Given the description of an element on the screen output the (x, y) to click on. 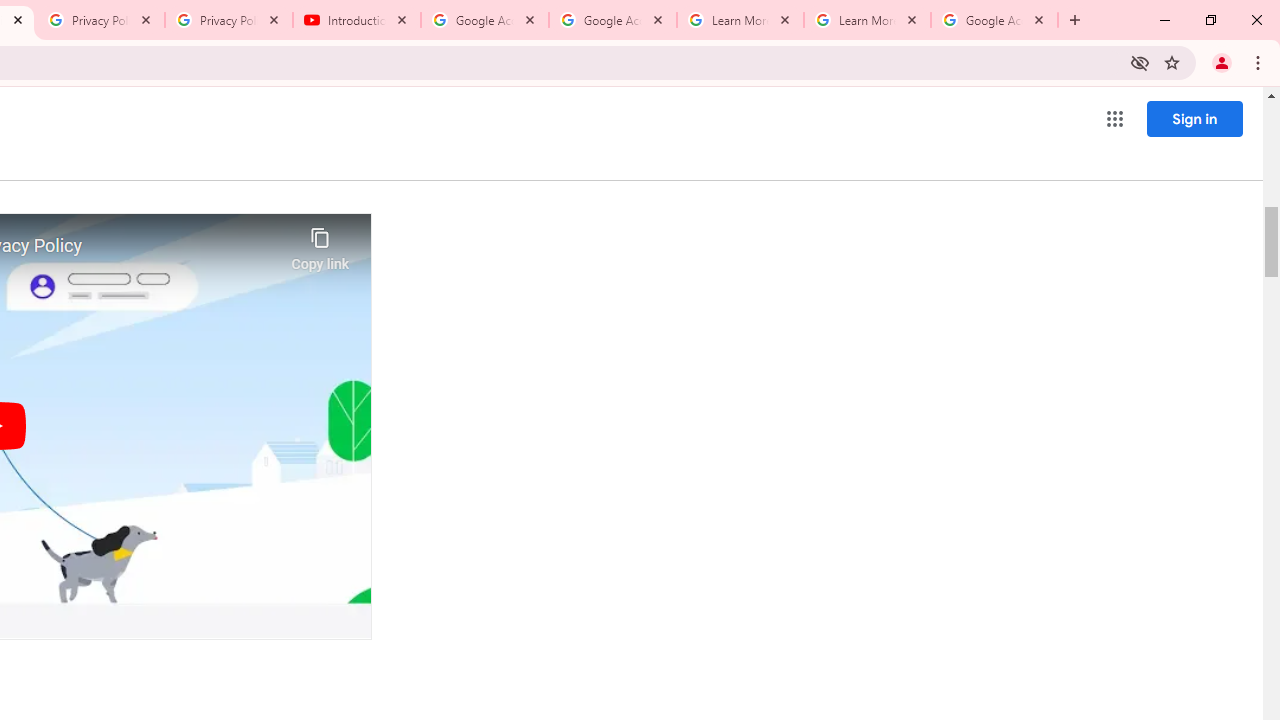
Google apps (1114, 118)
Copy link (319, 244)
Sign in (1194, 118)
